Given the description of an element on the screen output the (x, y) to click on. 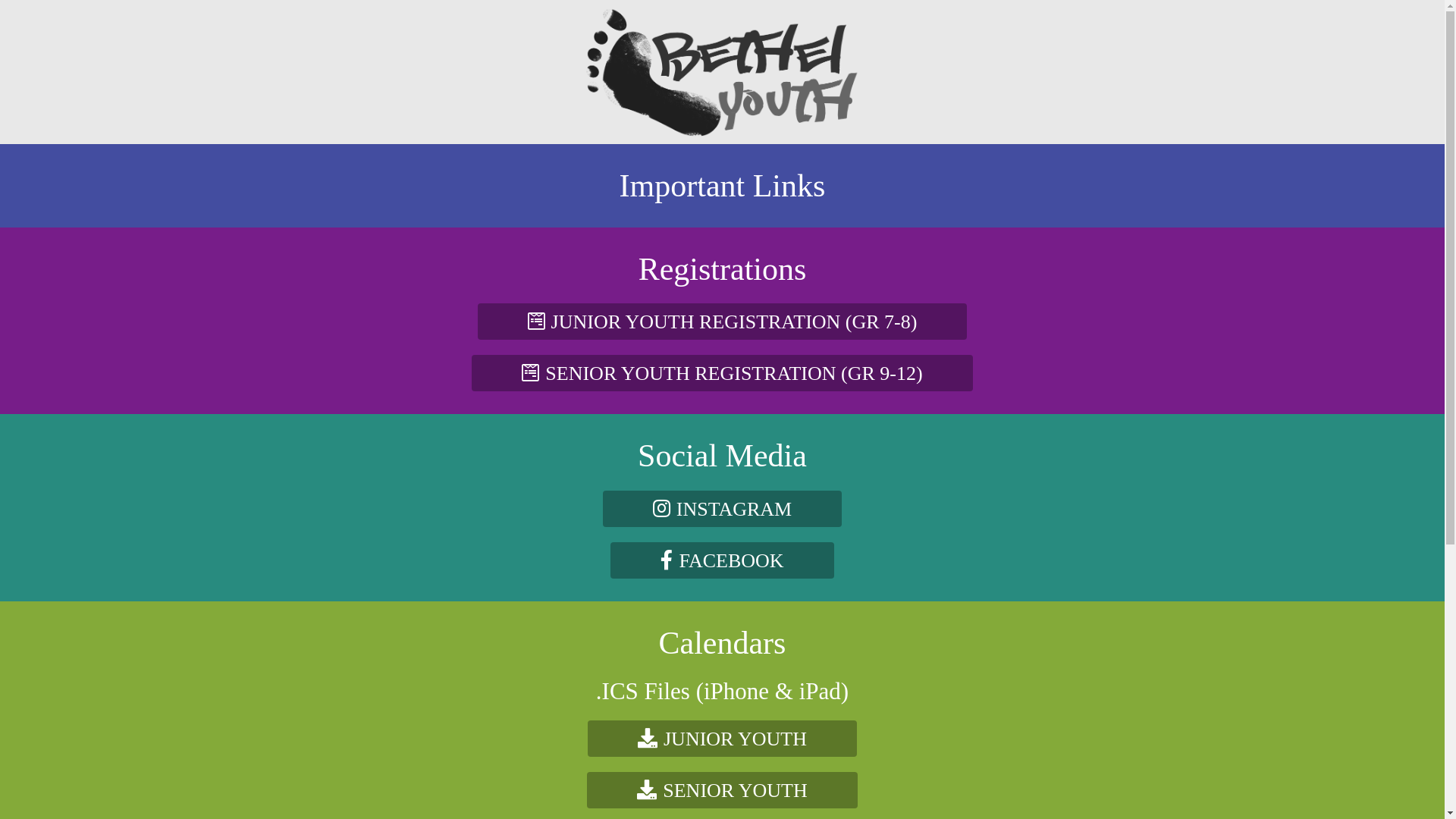
SENIOR YOUTH Element type: text (721, 789)
INSTAGRAM Element type: text (721, 508)
SENIOR YOUTH REGISTRATION (GR 9-12) Element type: text (721, 372)
JUNIOR YOUTH Element type: text (721, 738)
FACEBOOK Element type: text (721, 560)
JUNIOR YOUTH REGISTRATION (GR 7-8) Element type: text (722, 321)
